Given the description of an element on the screen output the (x, y) to click on. 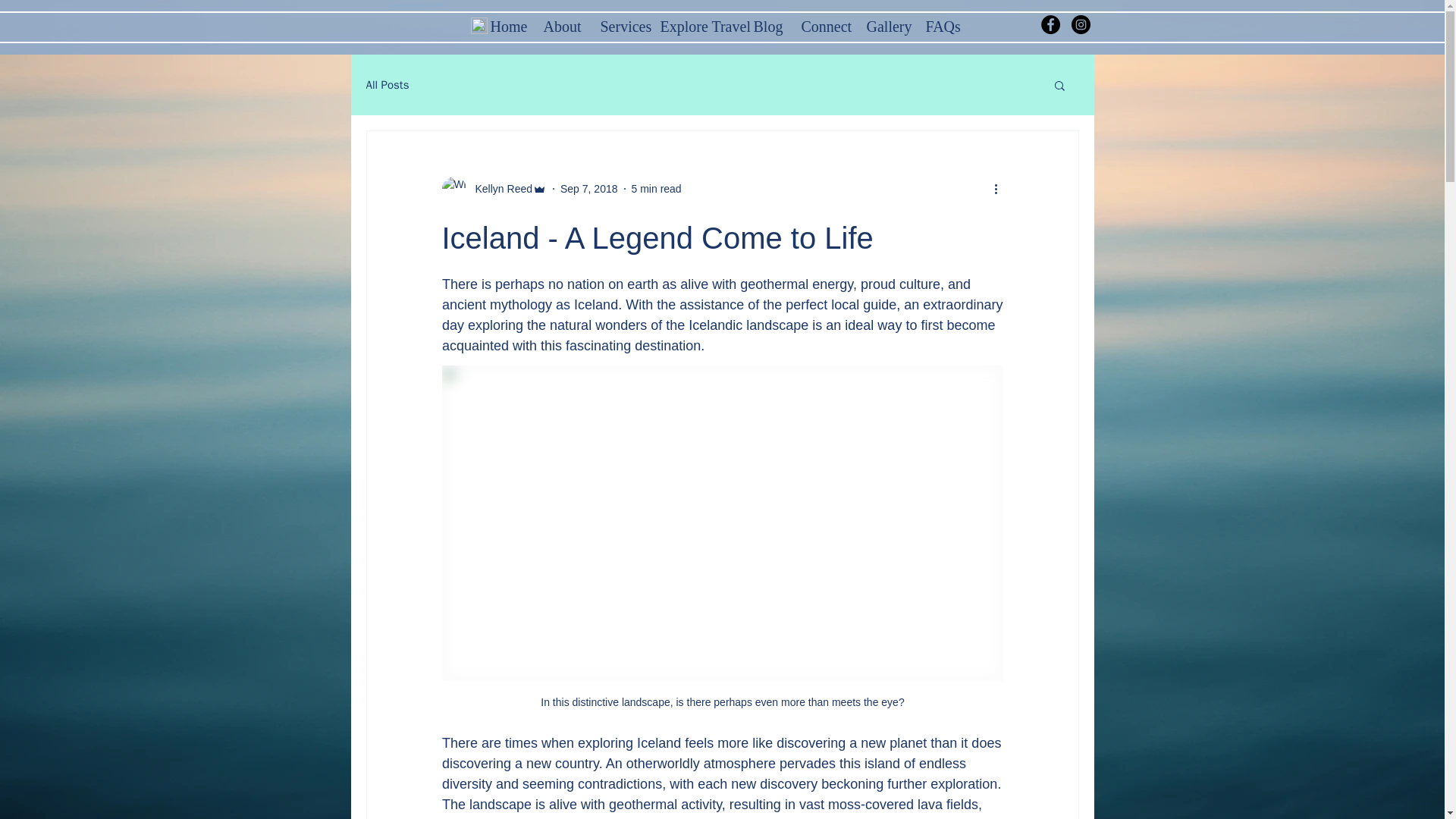
Home (505, 24)
Connect (823, 24)
All Posts (387, 83)
Blog (765, 24)
Sep 7, 2018 (588, 187)
About (560, 24)
Services (617, 24)
5 min read (656, 187)
Gallery (885, 24)
Explore Travel (695, 24)
FAQs (940, 24)
Kellyn Reed (498, 188)
